Given the description of an element on the screen output the (x, y) to click on. 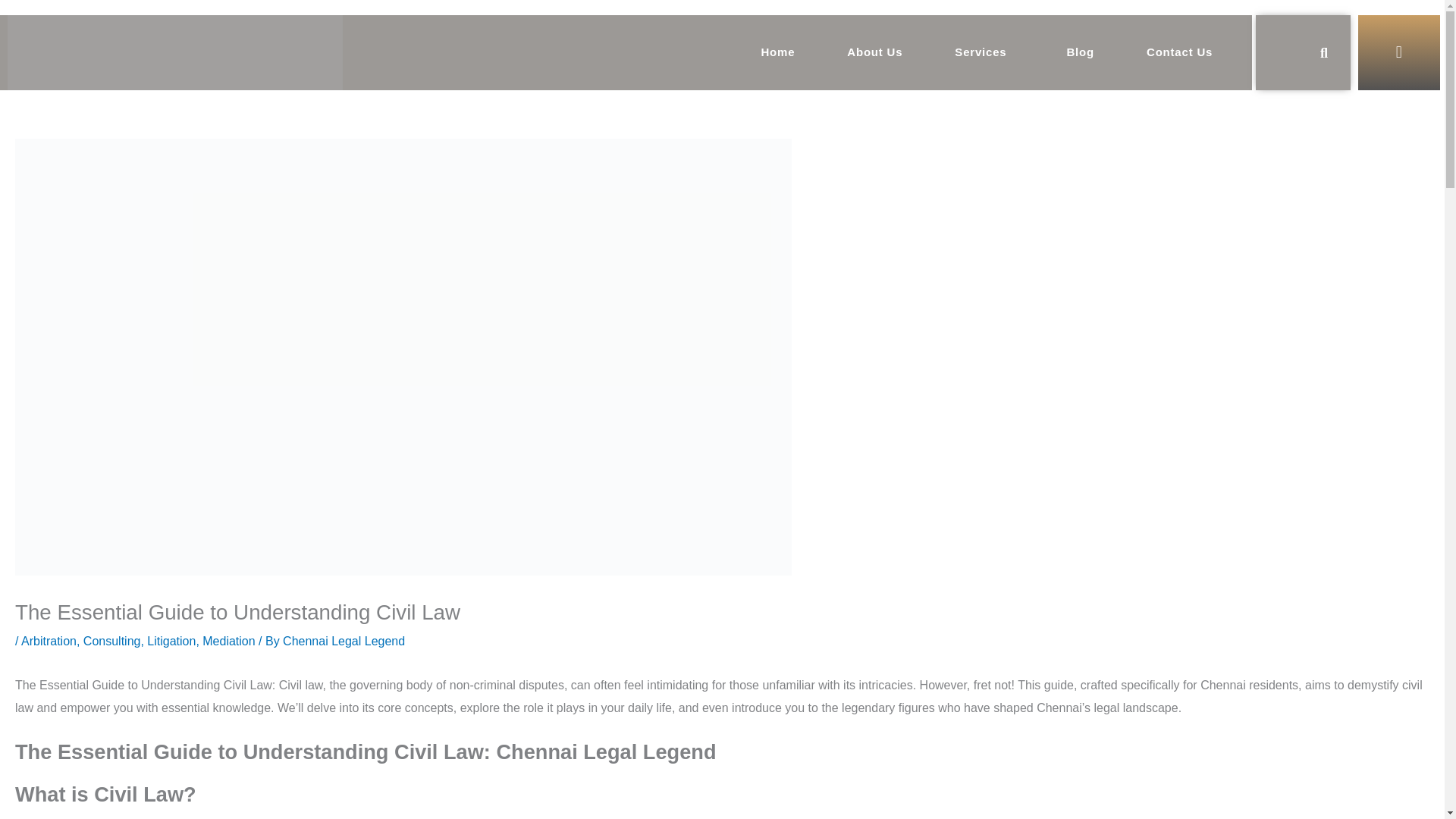
View all posts by Chennai Legal Legend (343, 640)
Services (983, 51)
Contact Us (1179, 51)
About Us (874, 51)
